Given the description of an element on the screen output the (x, y) to click on. 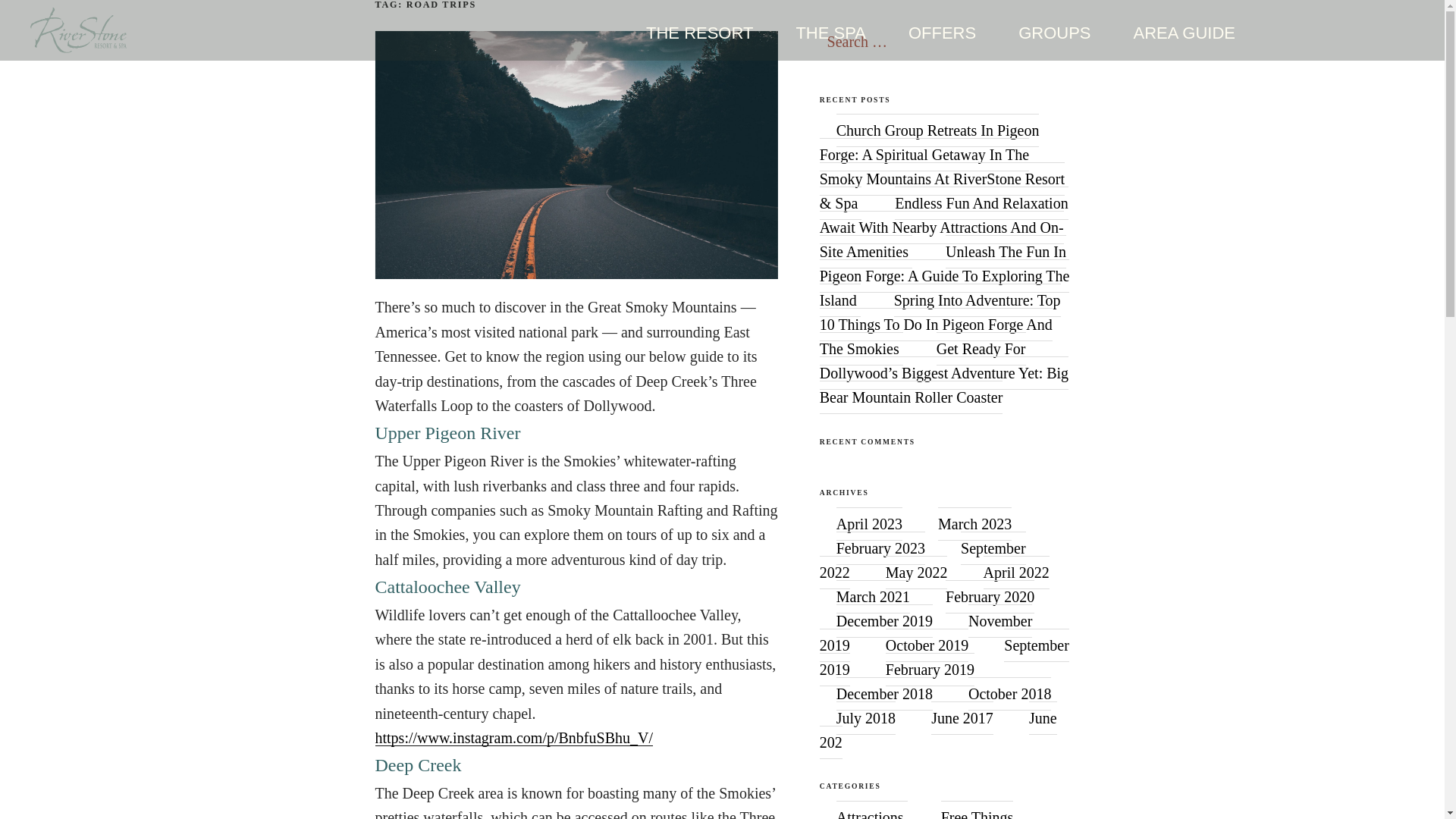
THE RESORT (699, 33)
THE SPA (830, 33)
GROUPS (1053, 33)
OFFERS (941, 33)
AREA GUIDE (1184, 33)
